Given the description of an element on the screen output the (x, y) to click on. 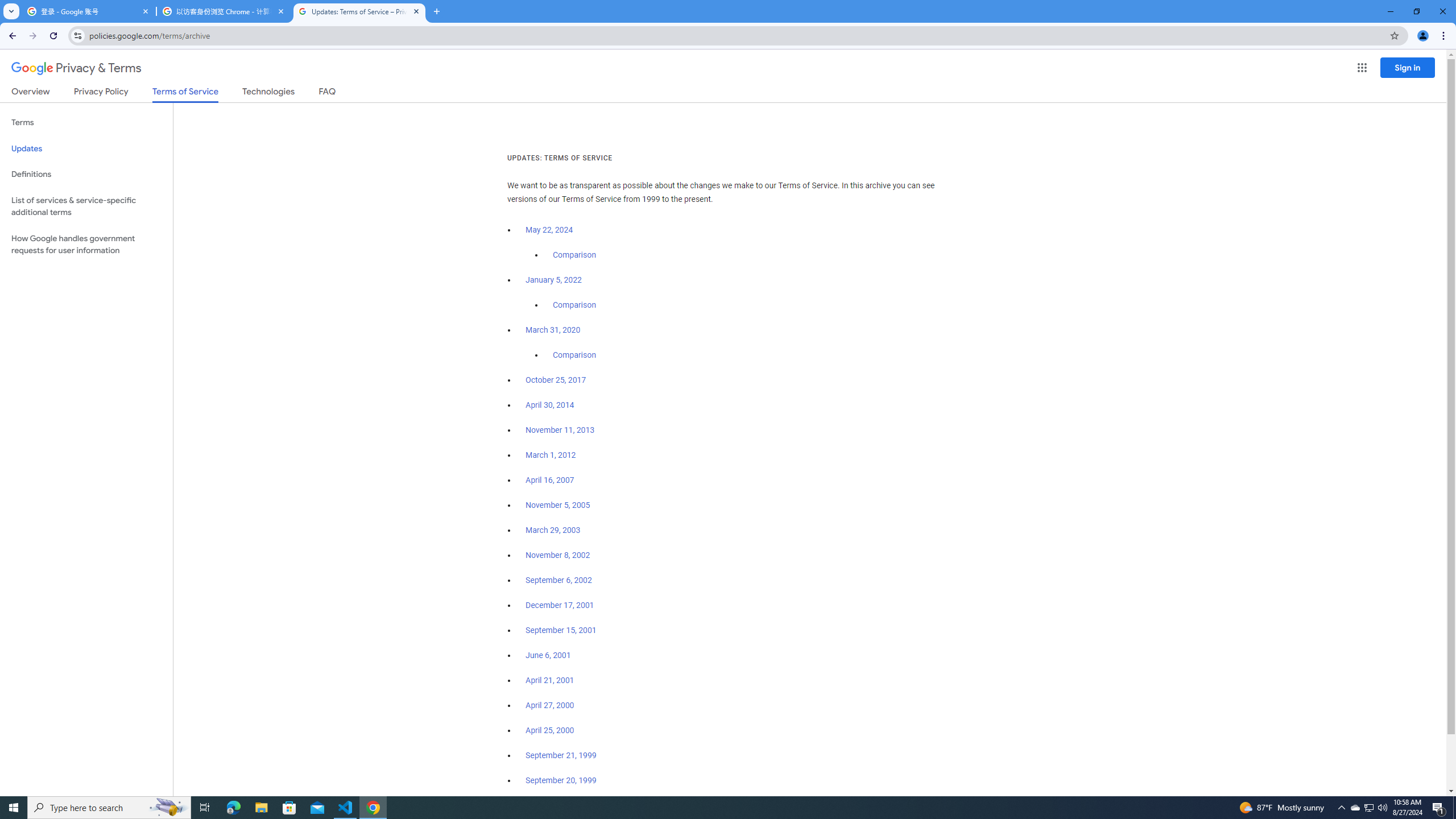
Definitions (86, 174)
March 29, 2003 (552, 530)
How Google handles government requests for user information (86, 244)
March 1, 2012 (550, 455)
November 11, 2013 (560, 430)
November 5, 2005 (557, 505)
May 22, 2024 (549, 230)
